Given the description of an element on the screen output the (x, y) to click on. 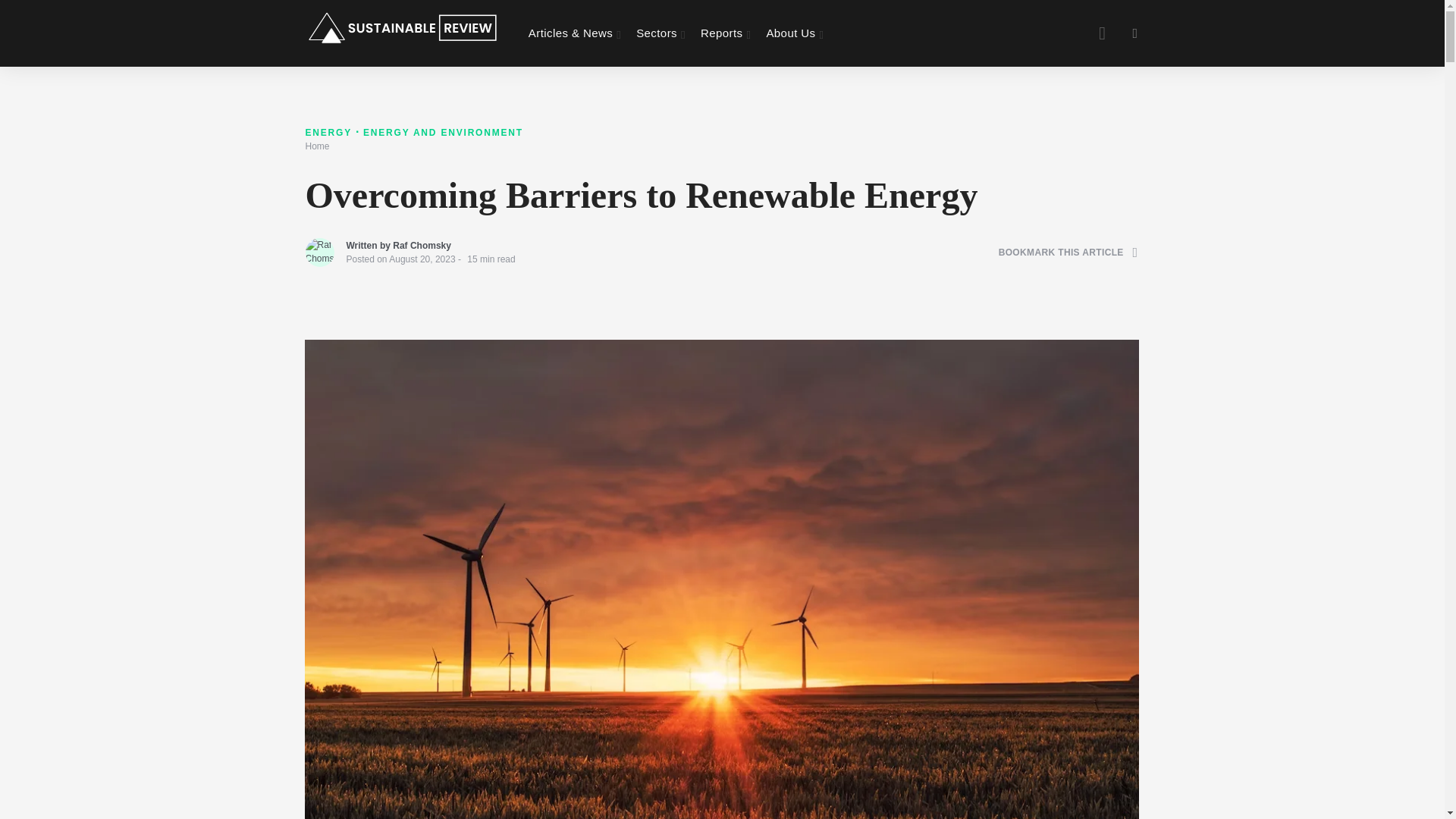
Home (316, 145)
Sectors (660, 32)
Sectors (660, 32)
About Us (794, 32)
Raf Chomsky (422, 245)
Reports (725, 32)
ENERGY (329, 132)
ENERGY AND ENVIRONMENT (442, 132)
